Given the description of an element on the screen output the (x, y) to click on. 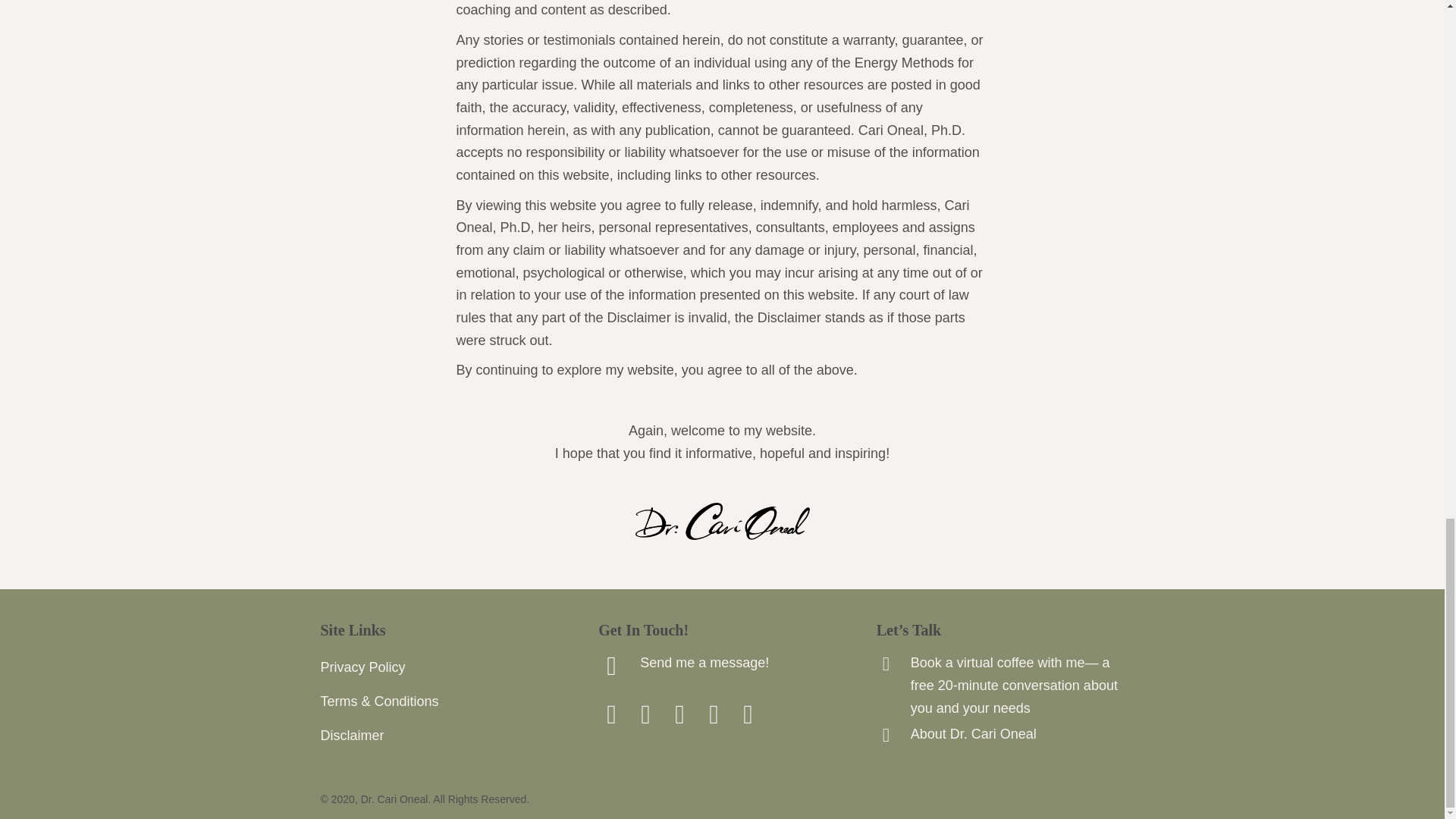
Send me a message! (704, 662)
Logo- new colors-black (721, 520)
About Dr. Cari Oneal (973, 734)
Disclaimer (443, 736)
Privacy Policy (443, 668)
